Given the description of an element on the screen output the (x, y) to click on. 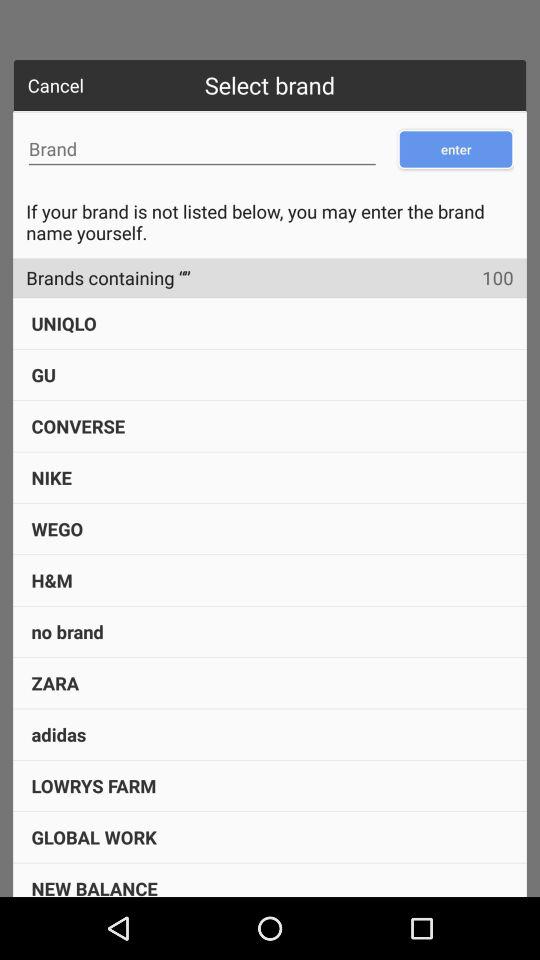
select icon below if your brand (504, 277)
